Given the description of an element on the screen output the (x, y) to click on. 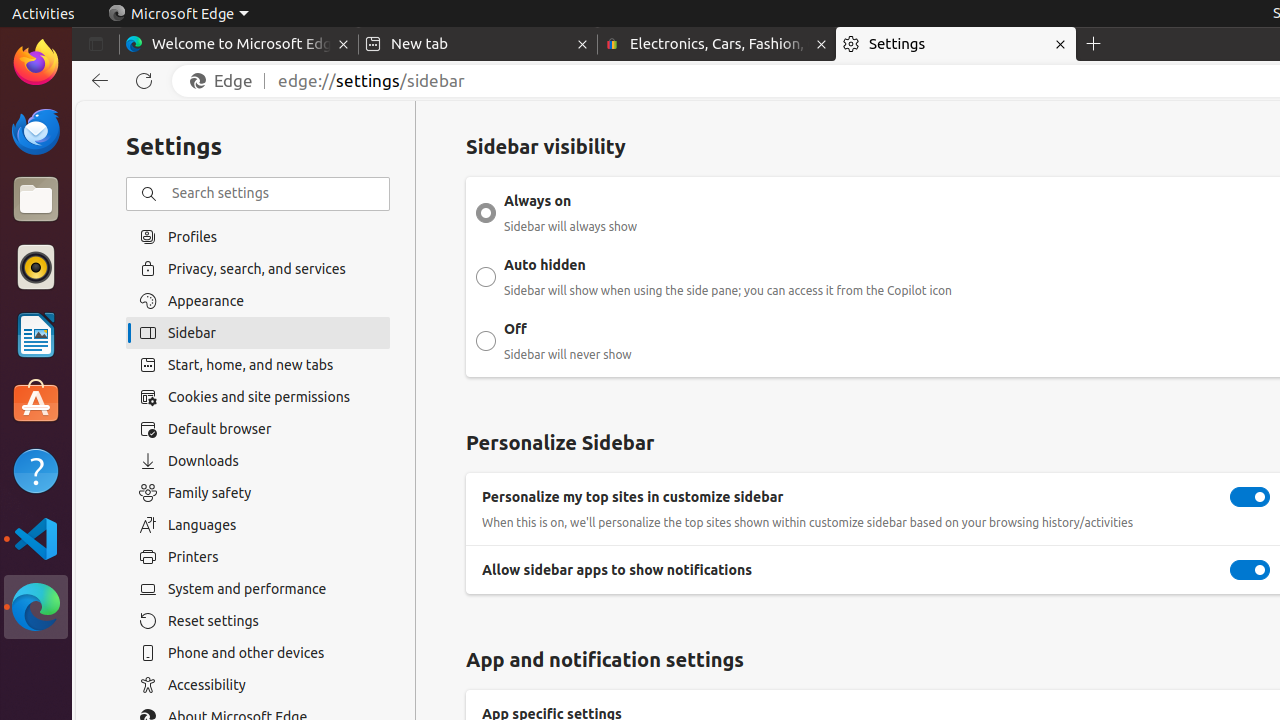
Downloads Element type: tree-item (258, 461)
Thunderbird Mail Element type: push-button (36, 131)
Sidebar Element type: tree-item (258, 333)
LibreOffice Writer Element type: push-button (36, 334)
Auto hidden Sidebar will show when using the side pane; you can access it from the Copilot icon Element type: radio-button (486, 277)
